Given the description of an element on the screen output the (x, y) to click on. 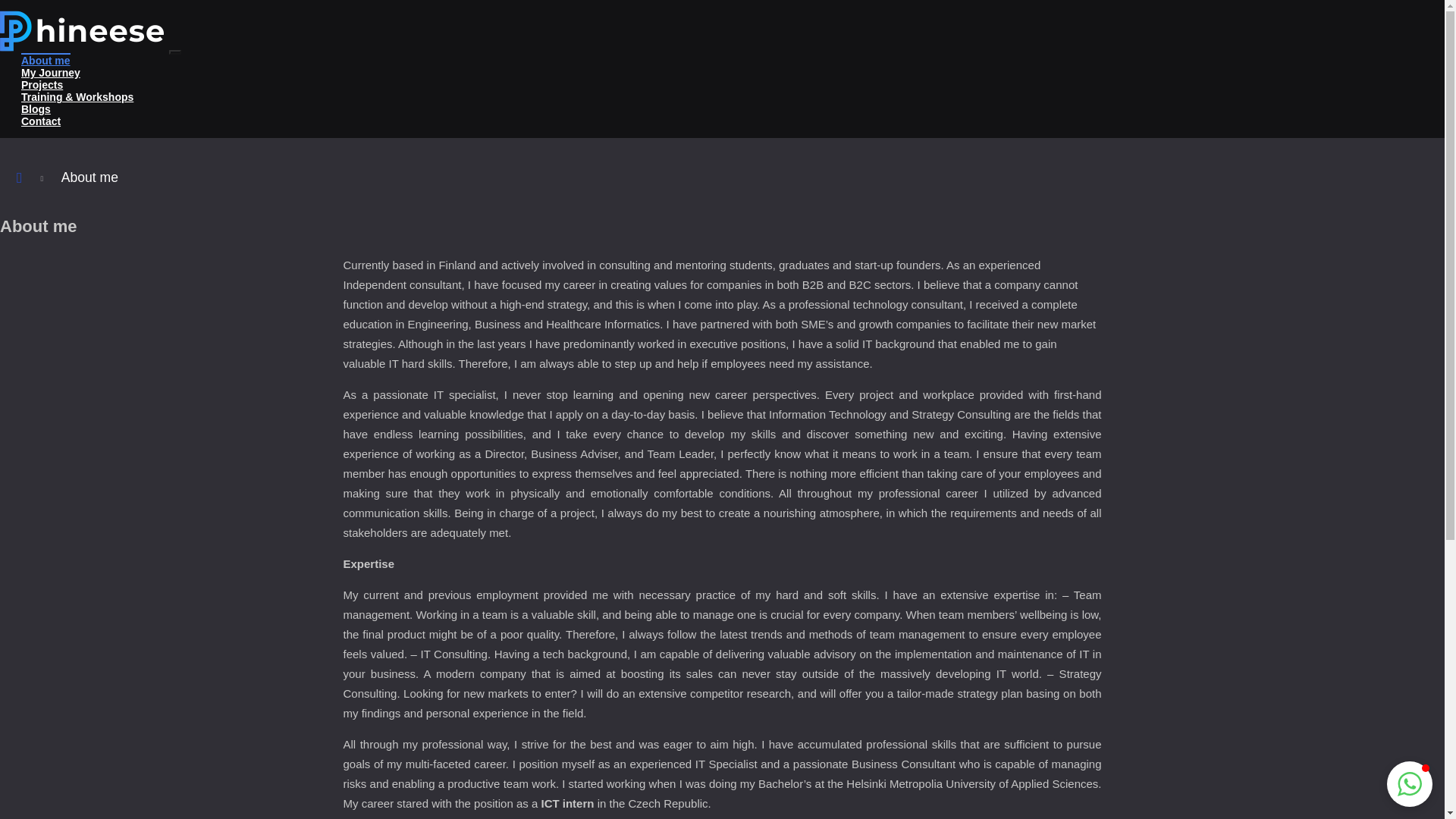
Contact (41, 120)
Blogs (35, 108)
Contact (41, 120)
Projects (41, 83)
Blogs (35, 108)
My Journey (50, 71)
About me (45, 59)
My Journey (50, 71)
Projects (41, 83)
About me (45, 59)
